Given the description of an element on the screen output the (x, y) to click on. 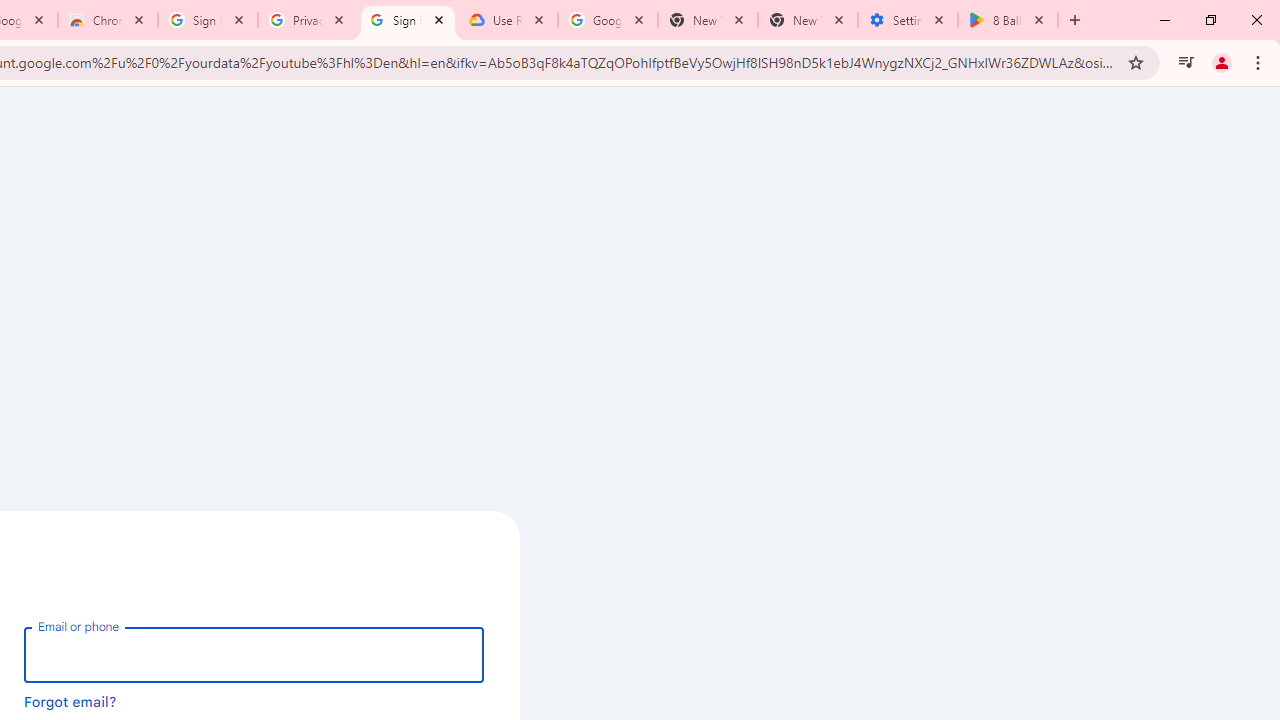
Sign in - Google Accounts (207, 20)
Email or phone (253, 654)
8 Ball Pool - Apps on Google Play (1007, 20)
Chrome Web Store - Color themes by Chrome (107, 20)
New Tab (807, 20)
Sign in - Google Accounts (408, 20)
Settings - System (907, 20)
Forgot email? (70, 701)
